Given the description of an element on the screen output the (x, y) to click on. 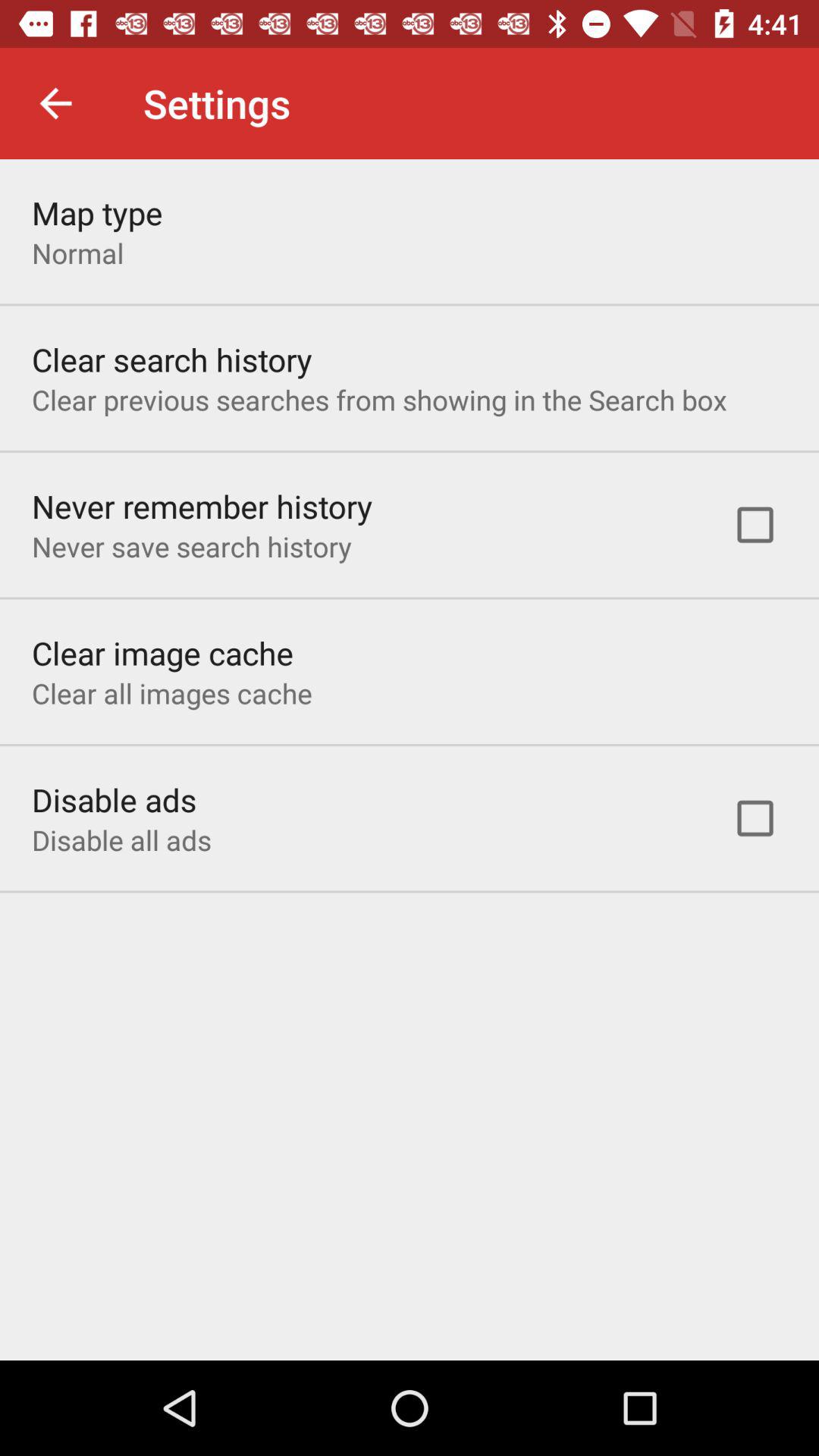
choose the icon above the disable ads item (171, 693)
